Given the description of an element on the screen output the (x, y) to click on. 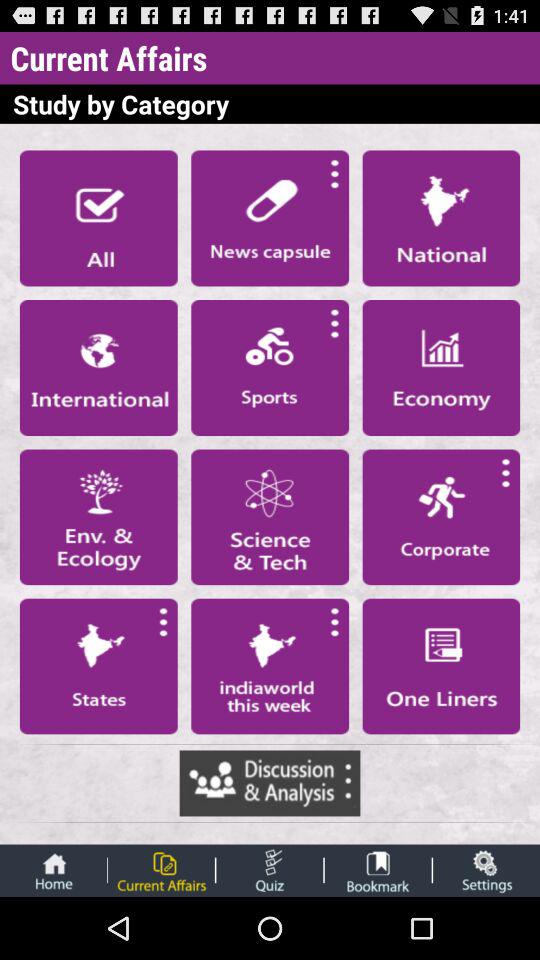
go to settings (486, 870)
